Given the description of an element on the screen output the (x, y) to click on. 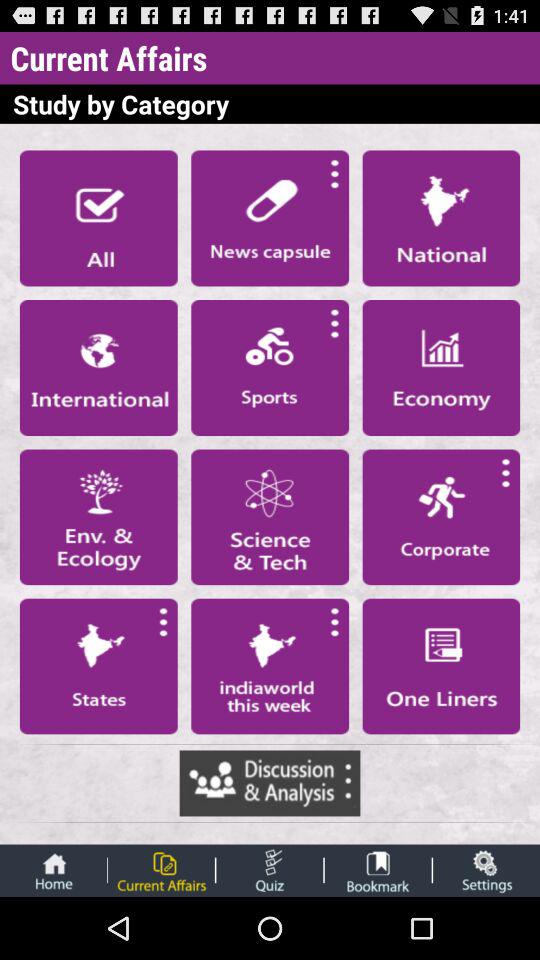
go to settings (486, 870)
